Given the description of an element on the screen output the (x, y) to click on. 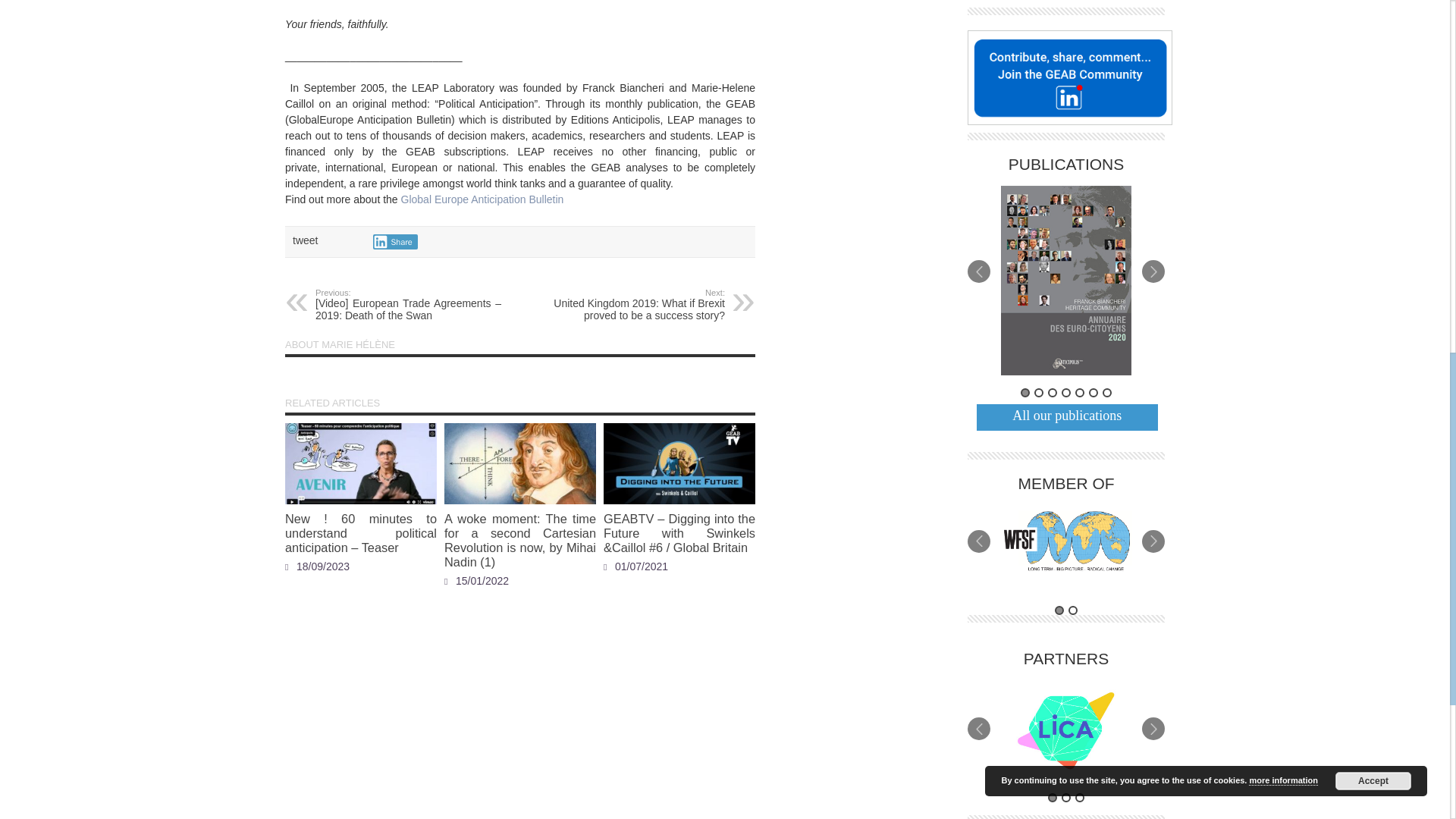
tweet (304, 240)
Share (394, 241)
